Given the description of an element on the screen output the (x, y) to click on. 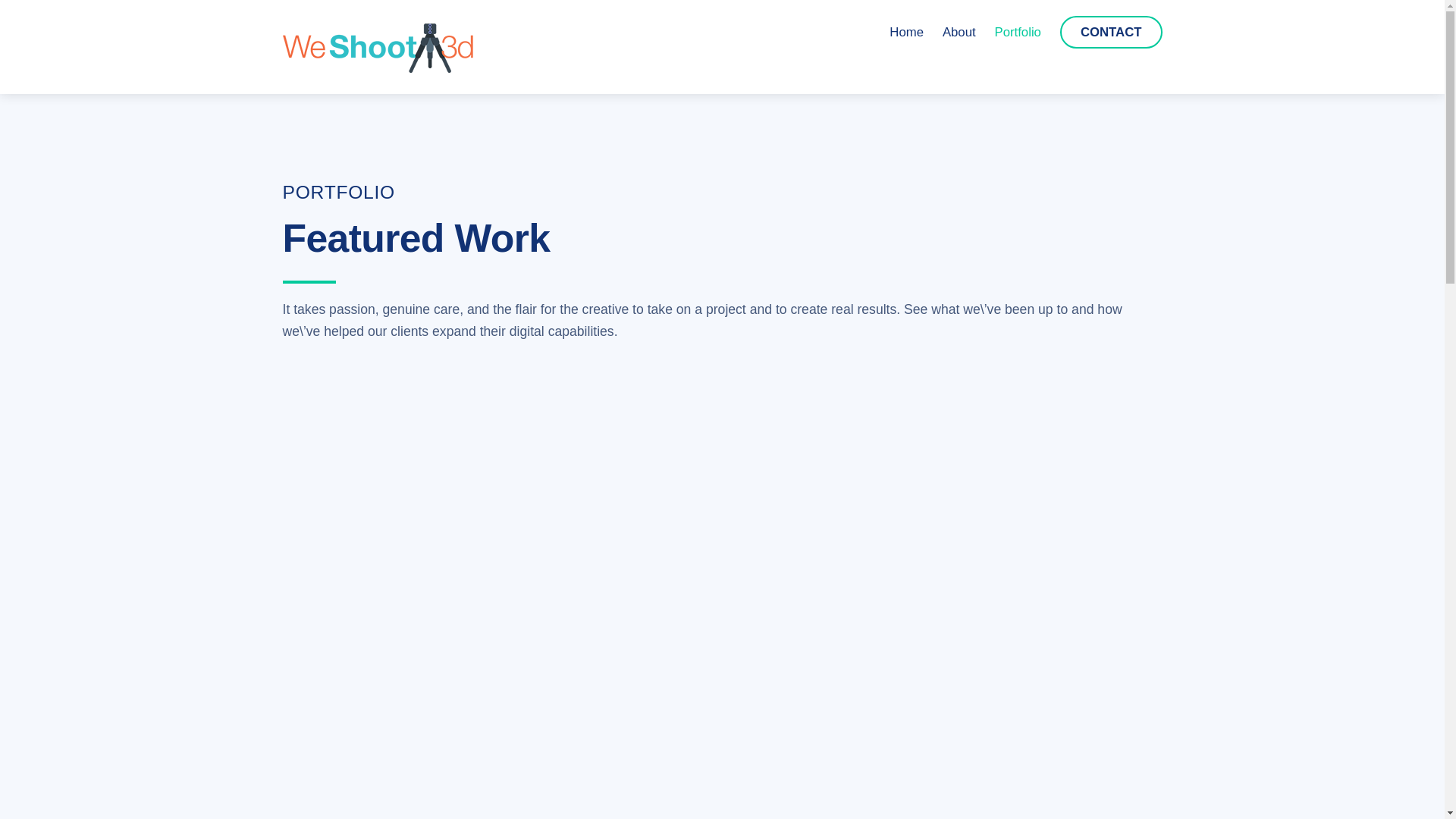
CONTACT (721, 31)
Home (1110, 31)
Portfolio (906, 31)
About (1017, 31)
We Shoot 3d (959, 31)
